Given the description of an element on the screen output the (x, y) to click on. 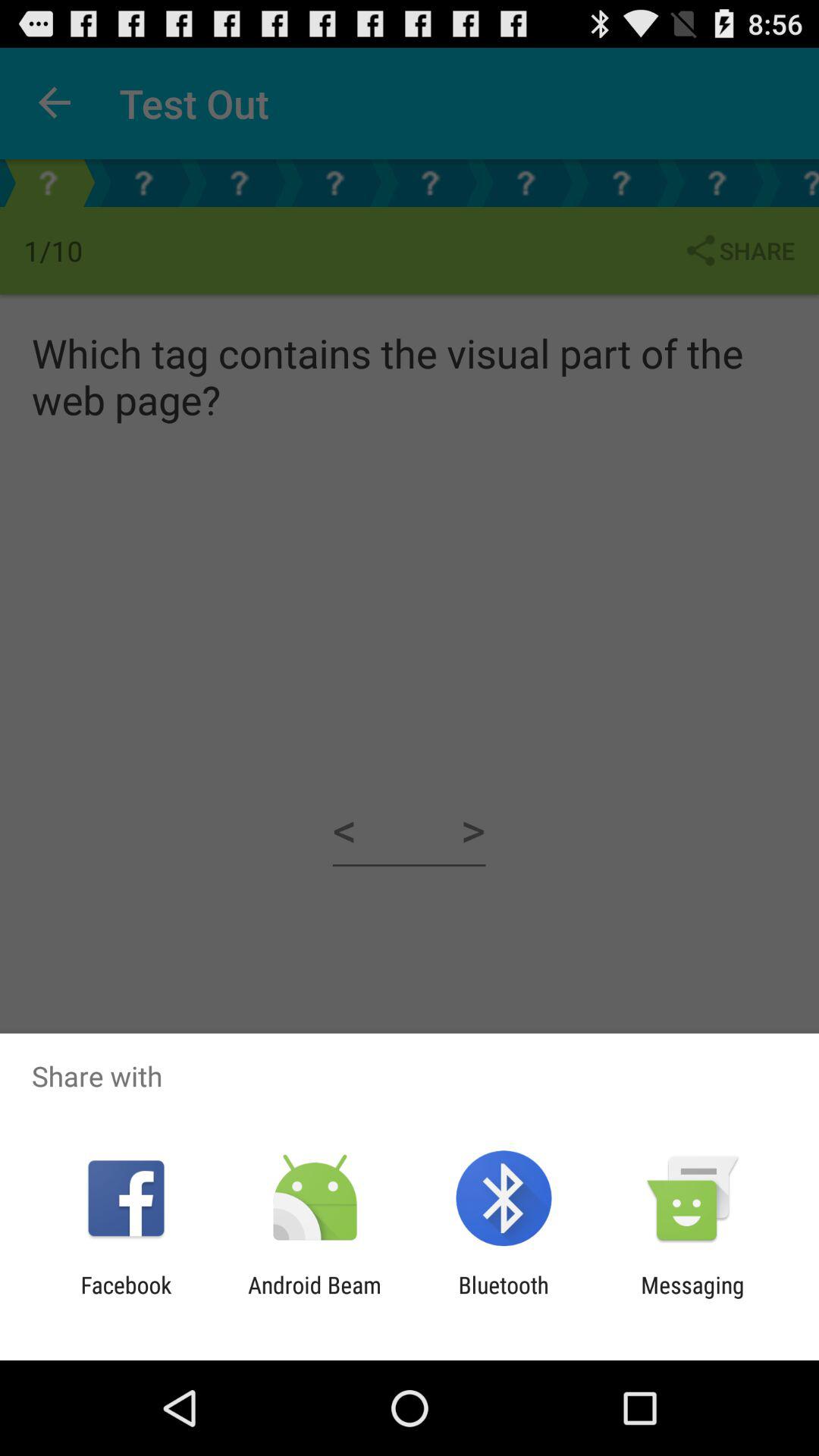
press app next to bluetooth item (692, 1298)
